Given the description of an element on the screen output the (x, y) to click on. 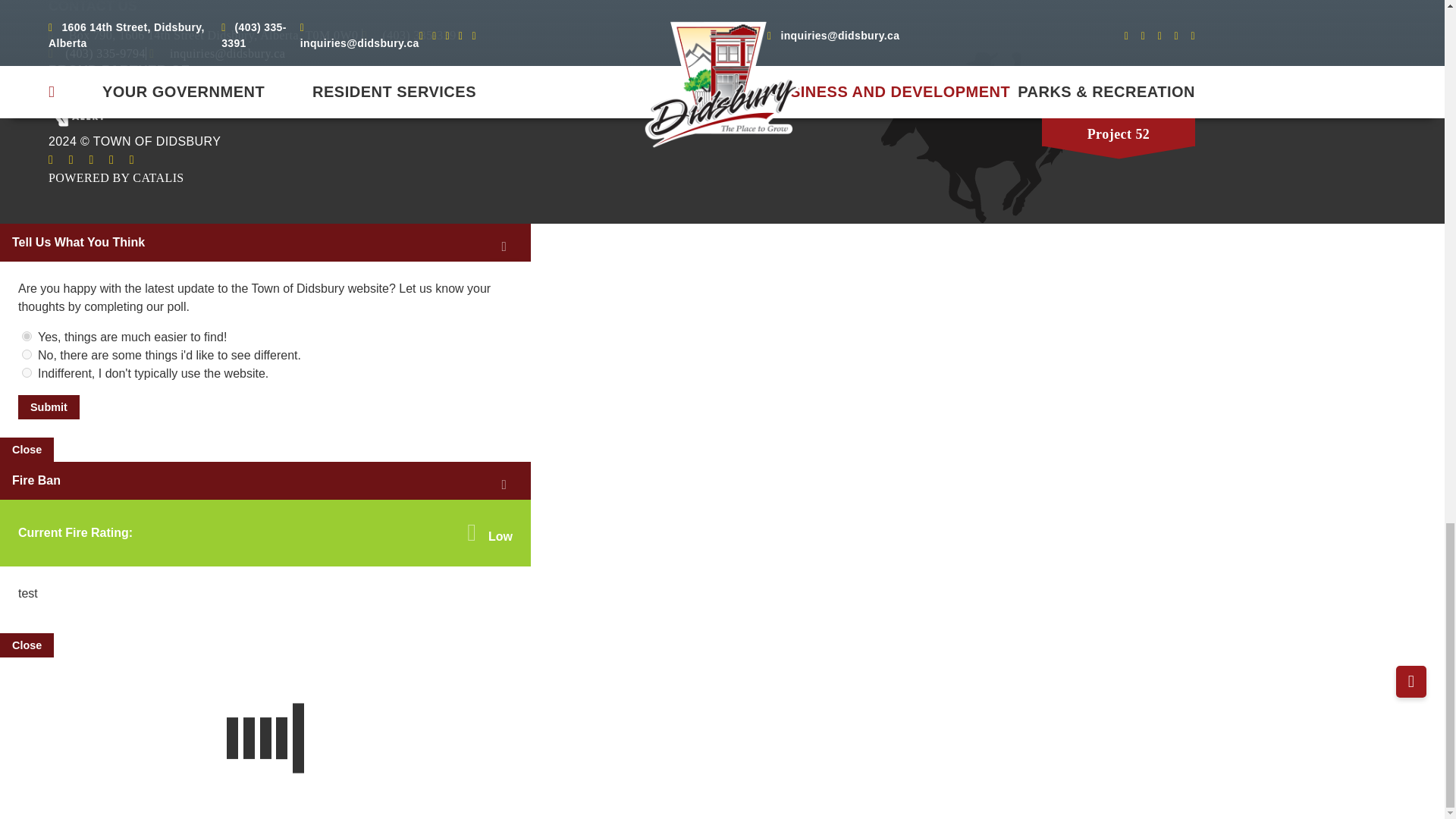
Submit (48, 406)
f1ca9a50-e79a-40d7-884d-71bc1a4555a5 (26, 336)
308ff39b-4cc9-4e7d-b8ff-ab631be30514 (26, 354)
c2fdc879-3159-4058-8bfa-d61c453063df (26, 372)
